Given the description of an element on the screen output the (x, y) to click on. 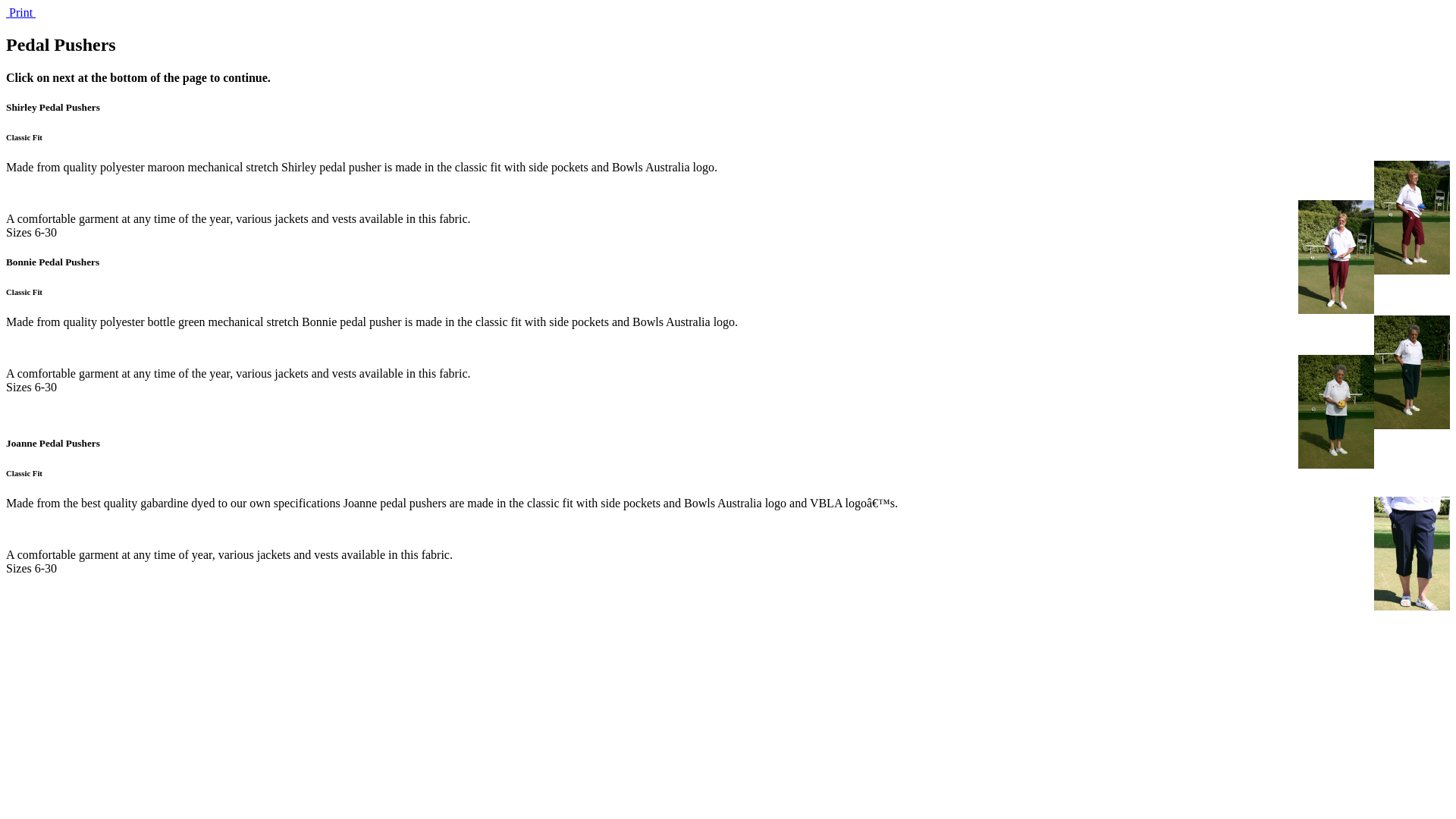
Domino Lawn Bowls Clothing - Pedal Pushers Element type: hover (1411, 552)
Domino Lawn Bowls Clothing - Pedal Pushers Element type: hover (1411, 372)
Domino Lawn Bowls Clothing - Pedal Pushers Element type: hover (1411, 217)
 Print  Element type: text (20, 12)
Domino Lawn Bowls Clothing - Pedal Pushers Element type: hover (1336, 411)
Domino Lawn Bowls Clothing - Pedal Pushers Element type: hover (1336, 256)
